Given the description of an element on the screen output the (x, y) to click on. 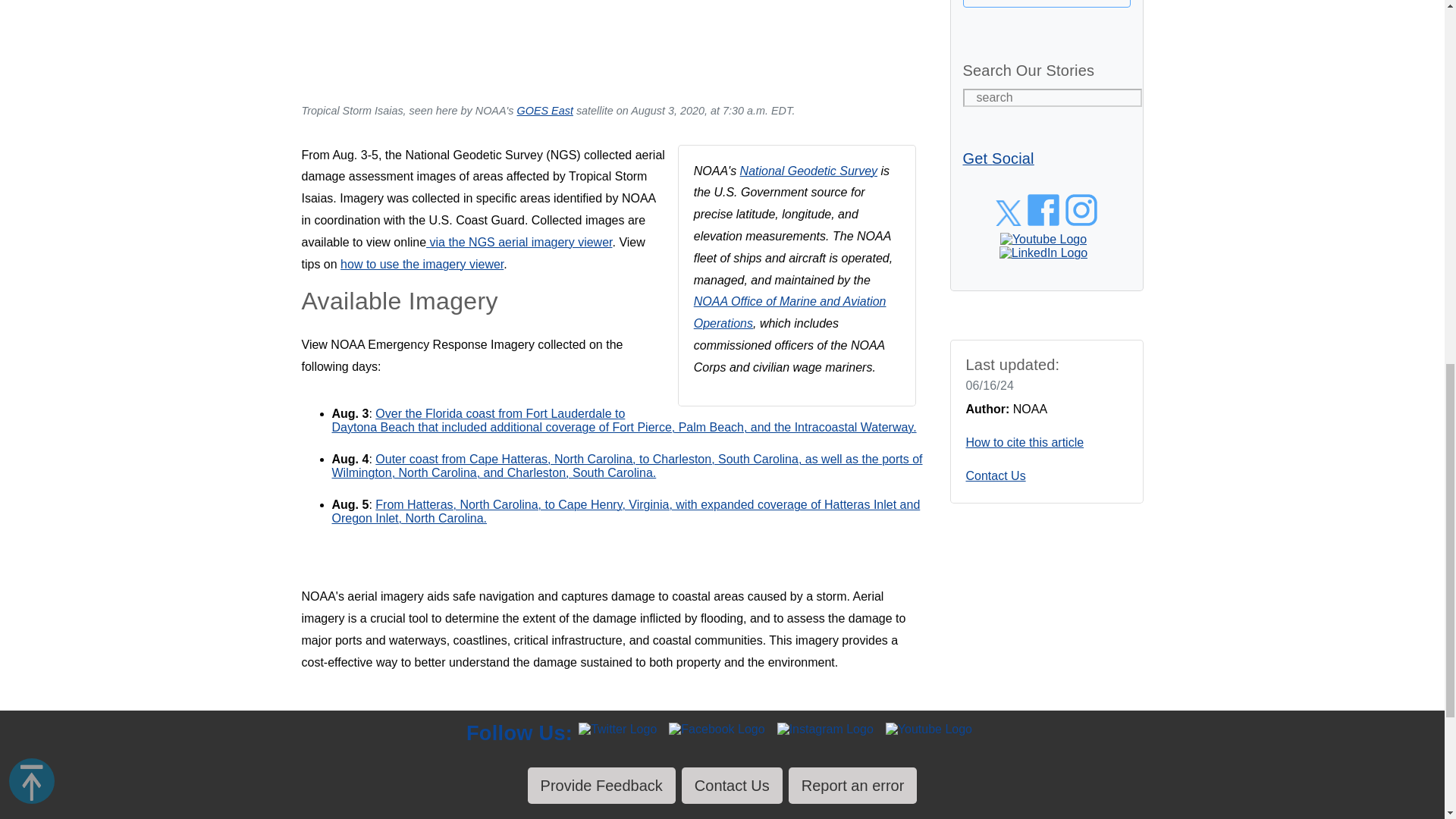
NOAA Office of Marine and Aviation Operations (790, 312)
National Geodetic Survey (808, 170)
how to use the imagery viewer (421, 264)
GOES East (544, 110)
via the NGS aerial imagery viewer (518, 241)
